Given the description of an element on the screen output the (x, y) to click on. 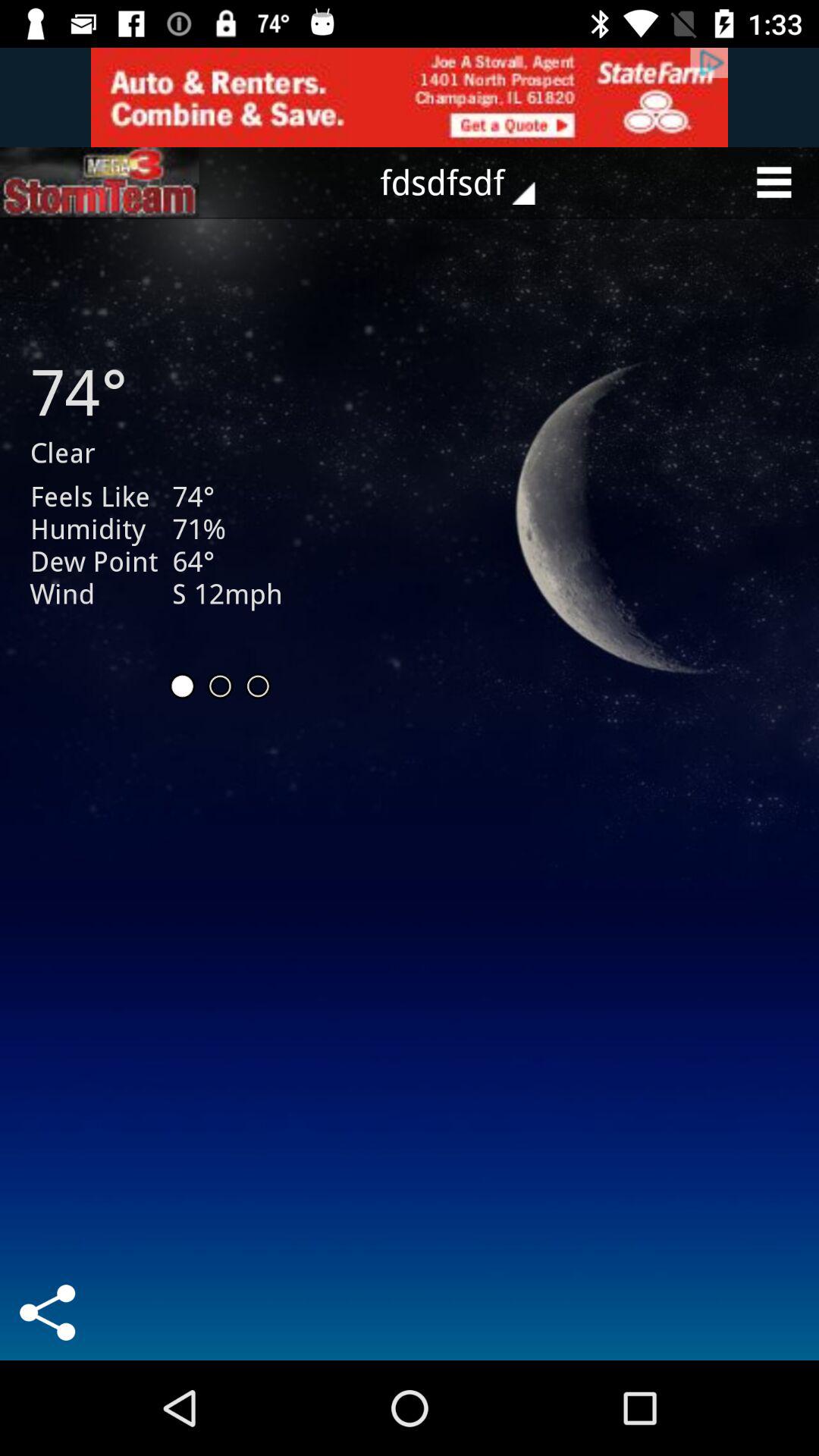
open advertisement (99, 182)
